Given the description of an element on the screen output the (x, y) to click on. 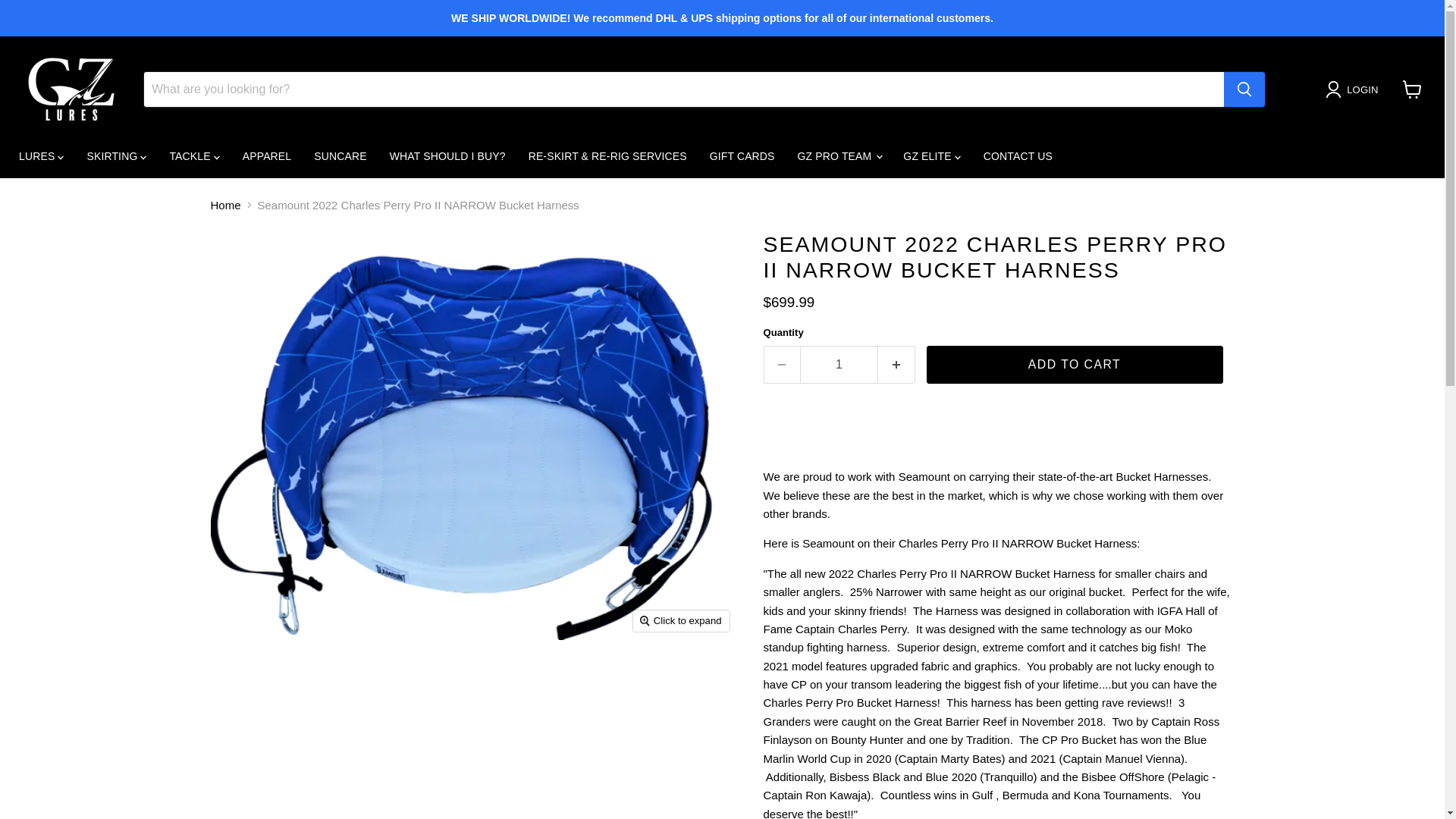
View cart (1411, 89)
1 (838, 364)
LOGIN (1354, 89)
